Given the description of an element on the screen output the (x, y) to click on. 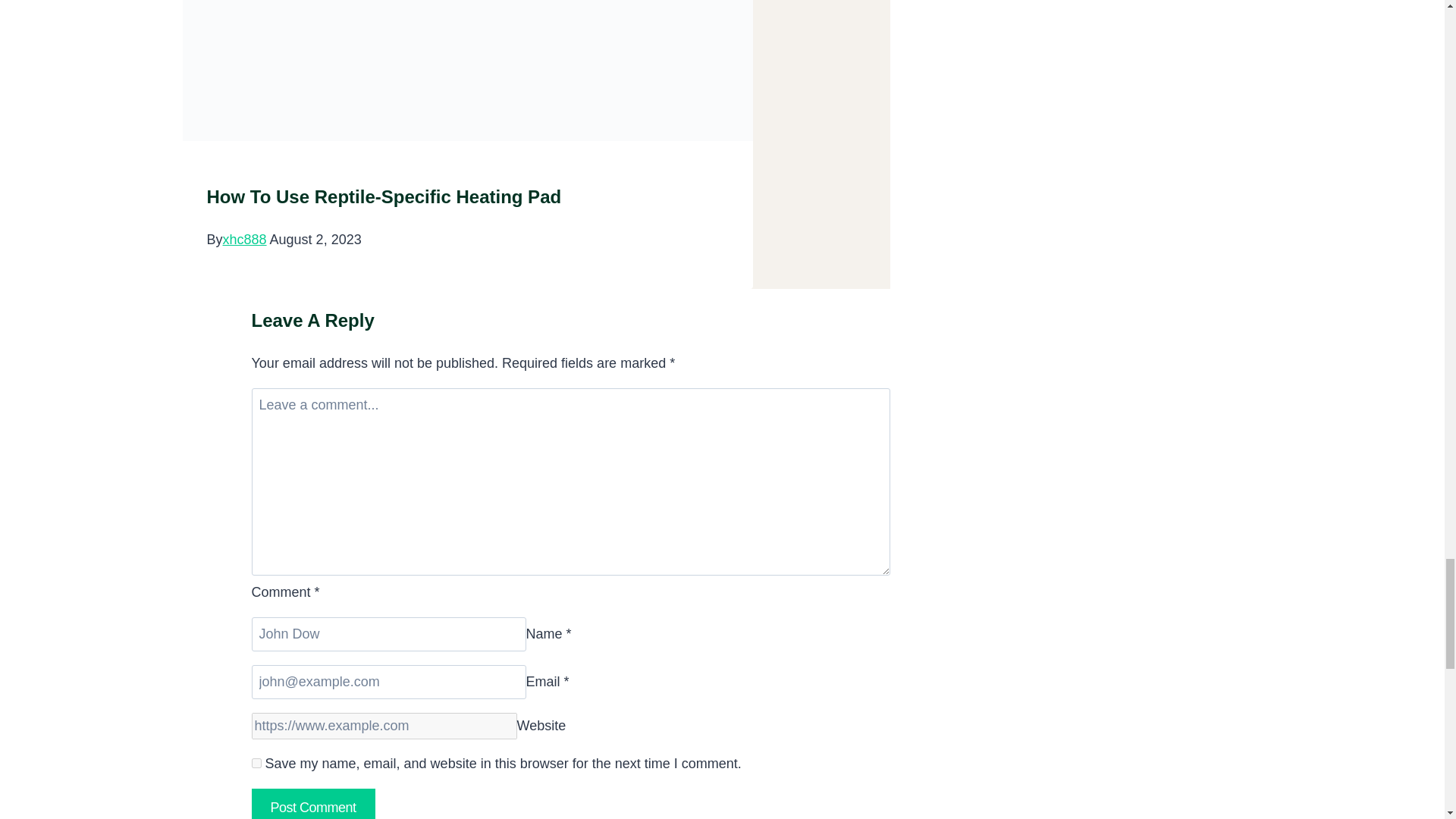
How To Use Reptile-Specific Heating Pad (383, 196)
yes (256, 763)
xhc888 (244, 239)
Post Comment (313, 803)
